Given the description of an element on the screen output the (x, y) to click on. 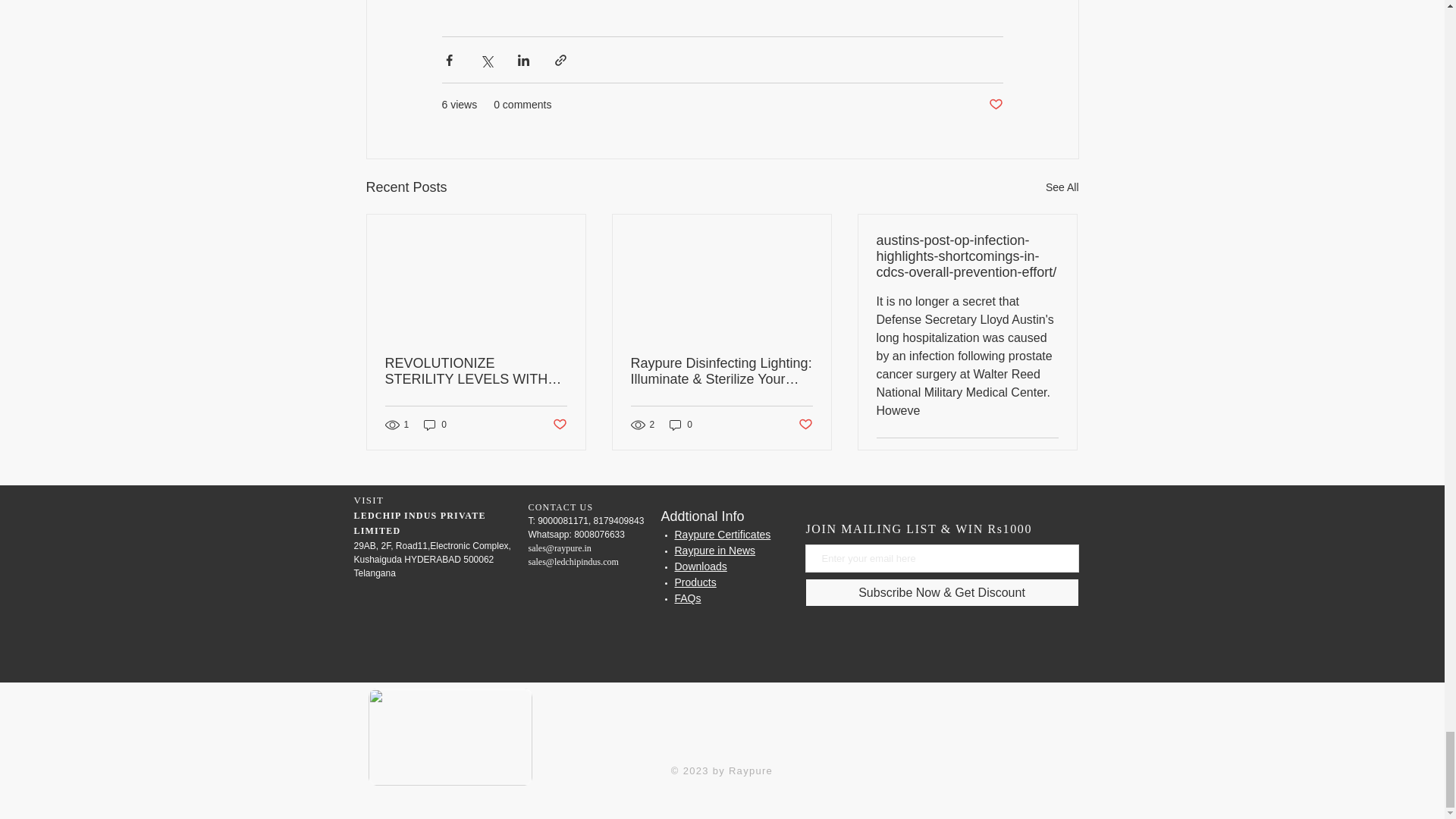
makeinindia1.jpg (450, 736)
